Given the description of an element on the screen output the (x, y) to click on. 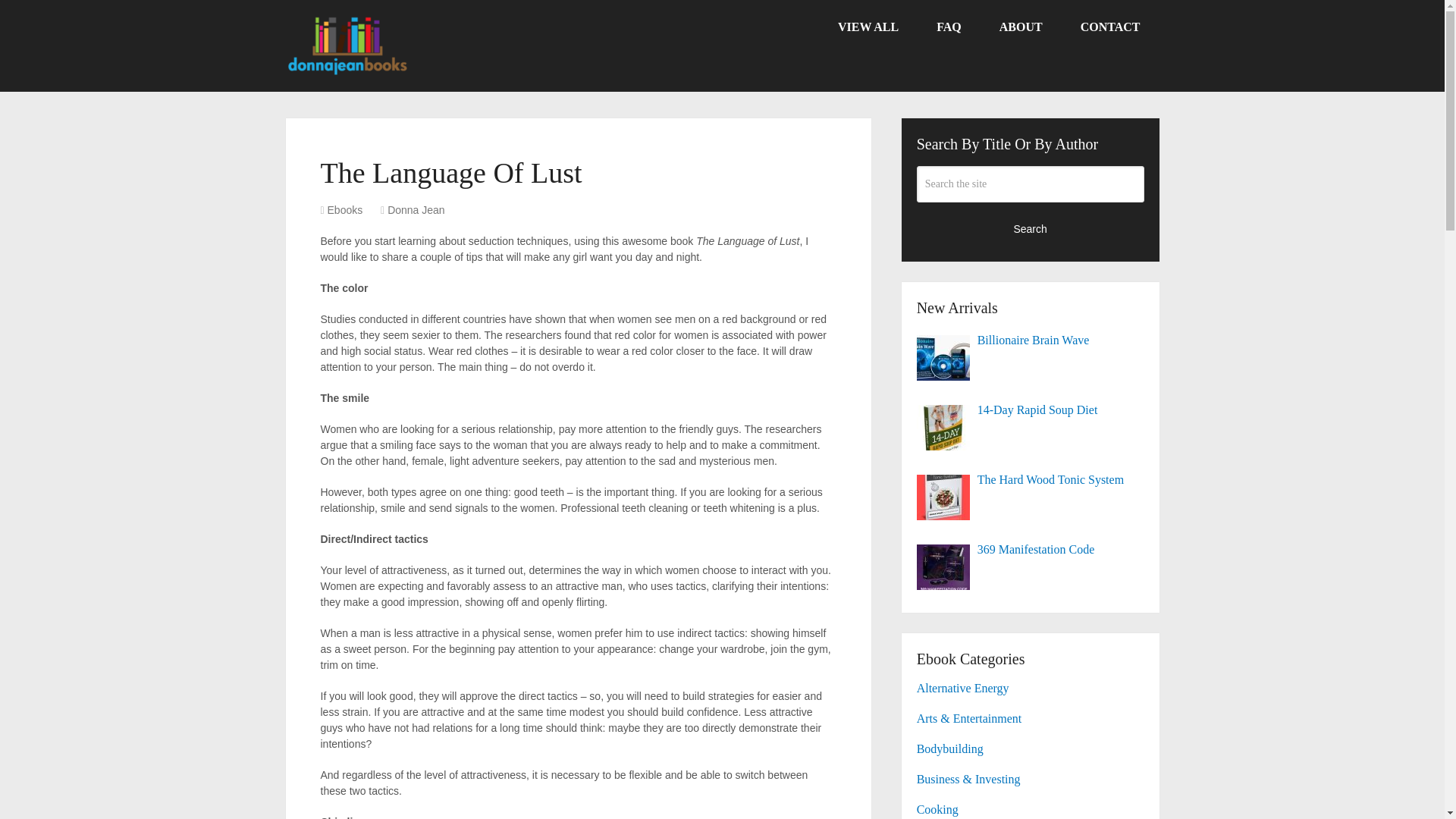
Ebooks (344, 209)
About Donna Jean Books (1020, 27)
Billionaire Brain Wave (1030, 340)
CONTACT (1109, 27)
ABOUT (1020, 27)
The Hard Wood Tonic System (1030, 479)
Frequently Asked Questions (948, 27)
Browse All Ebooks (867, 27)
VIEW ALL (867, 27)
Donna Jean (416, 209)
Bodybuilding (950, 748)
Posts by Donna Jean (416, 209)
View all posts in Ebooks (344, 209)
14-Day Rapid Soup Diet (1030, 410)
Cooking (937, 809)
